Given the description of an element on the screen output the (x, y) to click on. 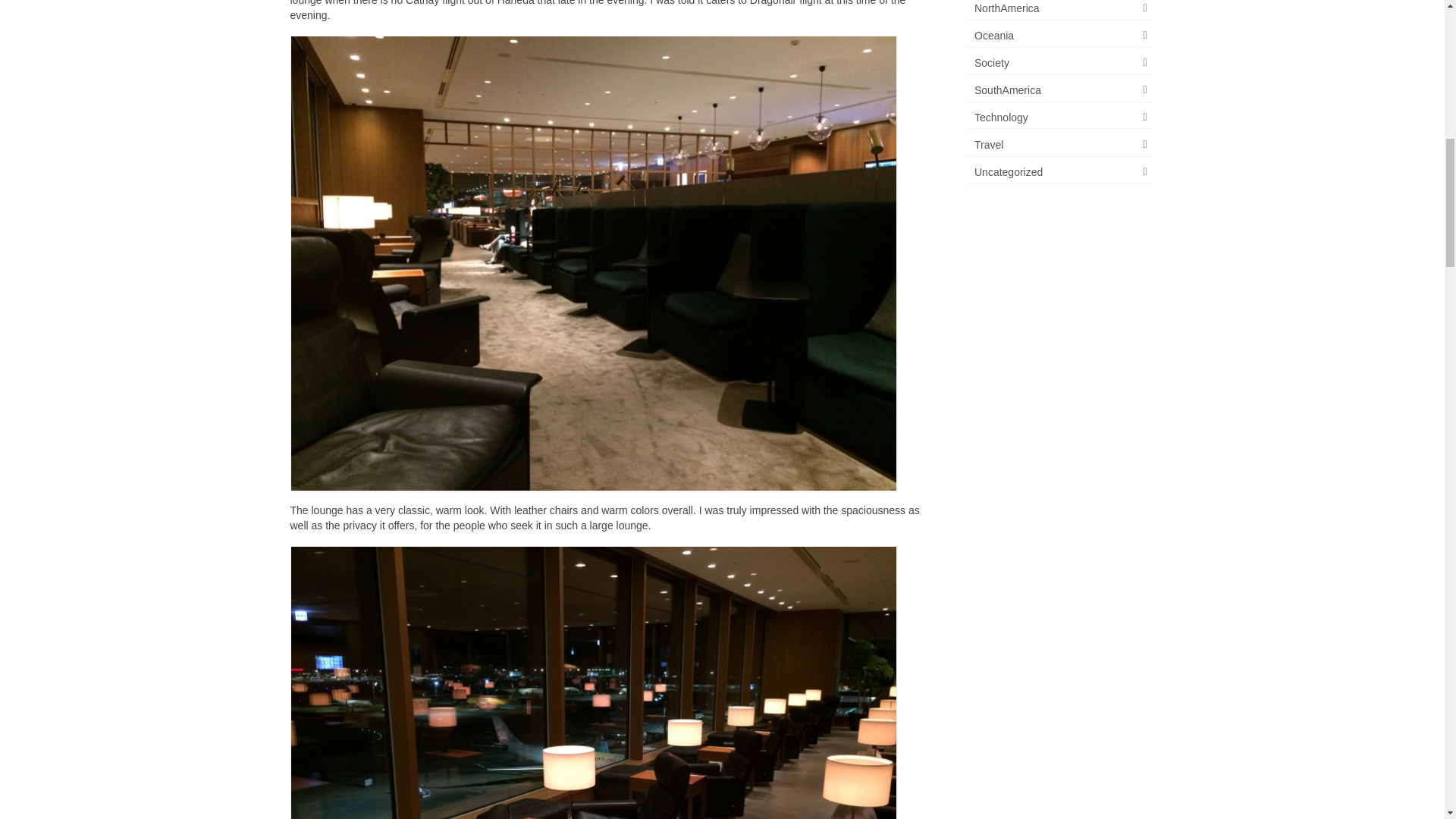
NorthAmerica (1060, 10)
Oceania (1060, 35)
SouthAmerica (1060, 90)
Society (1060, 63)
Technology (1060, 117)
